Given the description of an element on the screen output the (x, y) to click on. 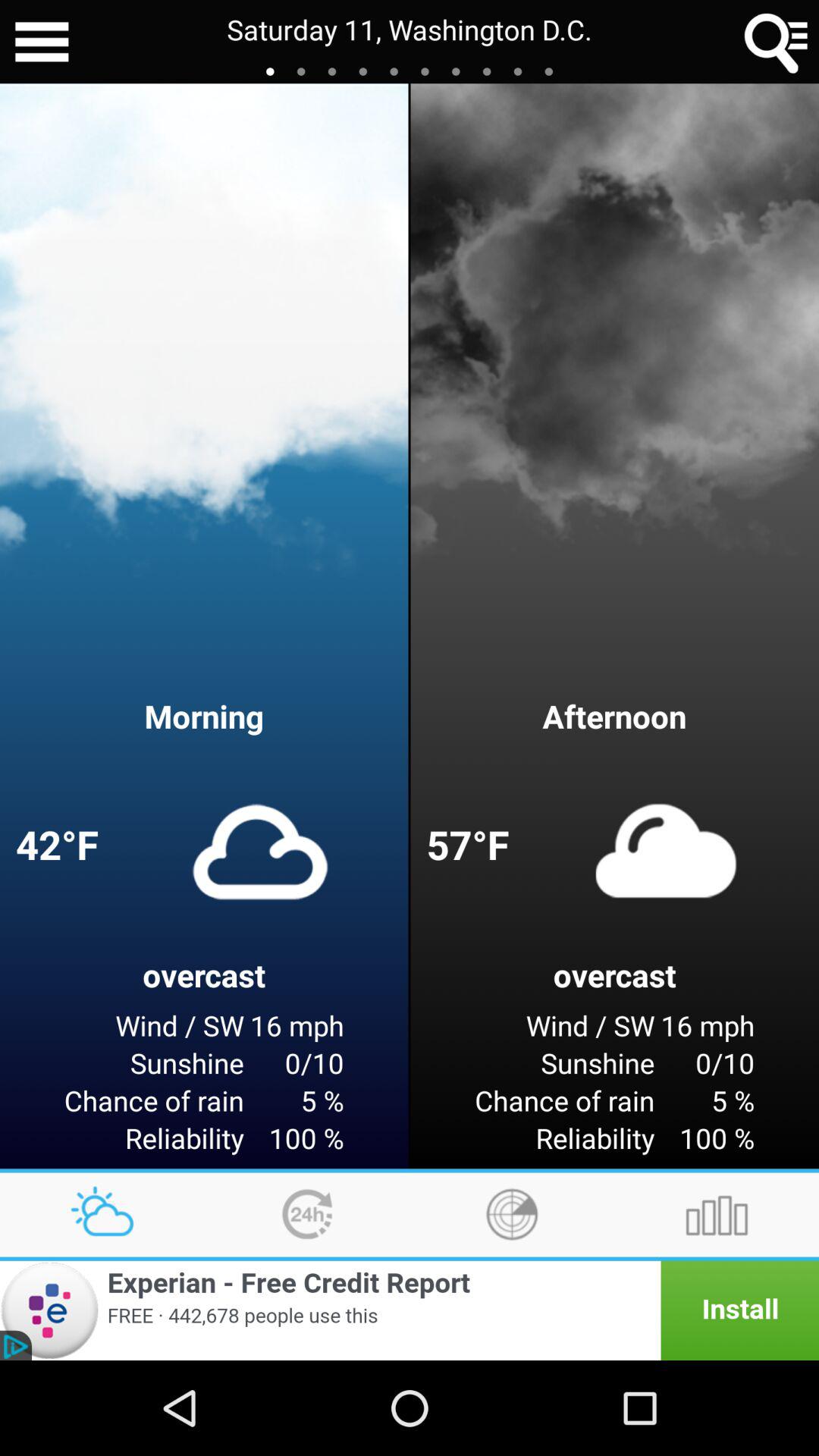
location search (777, 41)
